Given the description of an element on the screen output the (x, y) to click on. 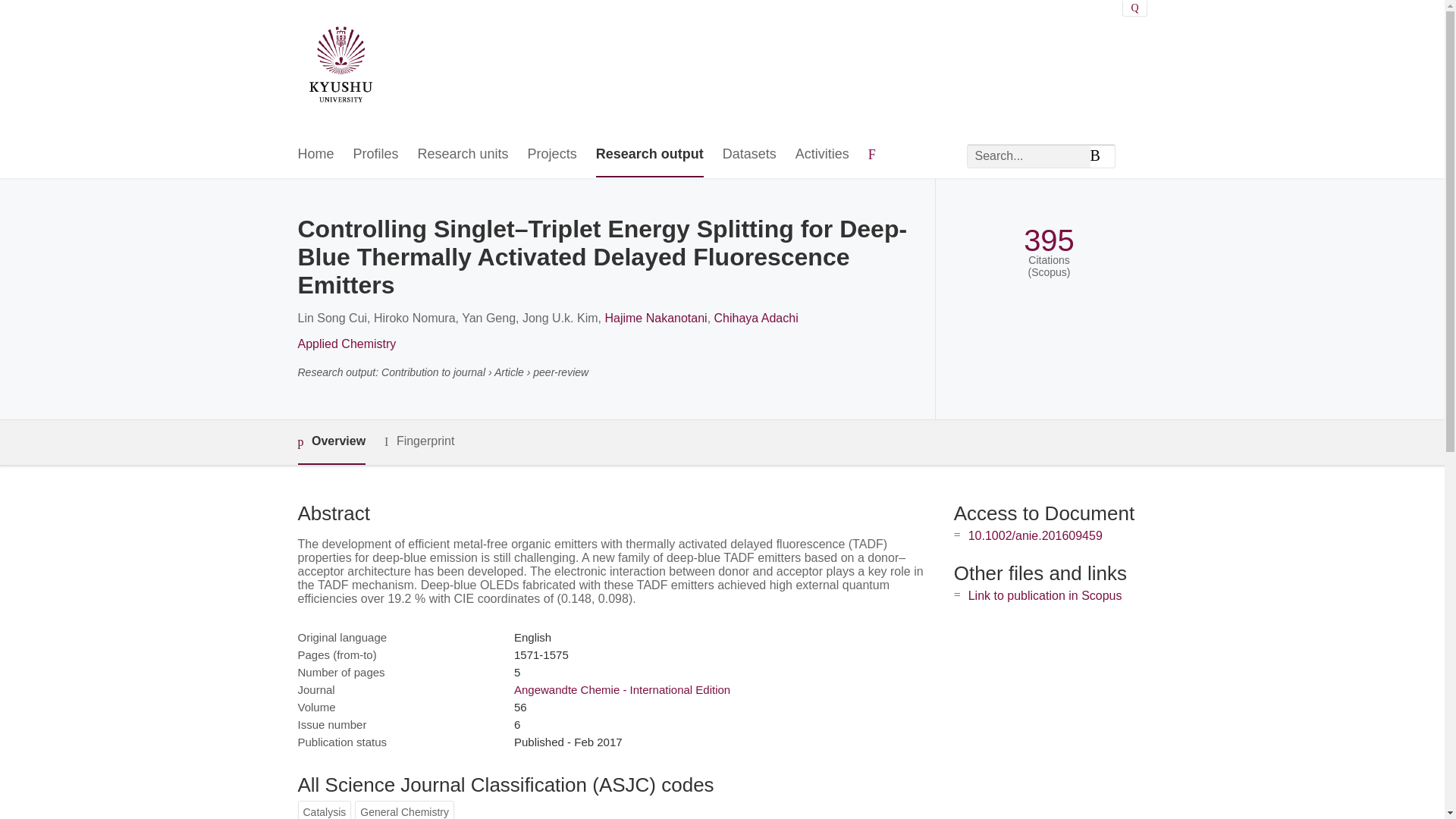
Overview (331, 442)
Chihaya Adachi (755, 318)
Research units (462, 154)
Activities (821, 154)
Applied Chemistry (346, 343)
Fingerprint (419, 441)
Link to publication in Scopus (1045, 594)
Datasets (749, 154)
395 (1048, 240)
Research output (649, 154)
